Given the description of an element on the screen output the (x, y) to click on. 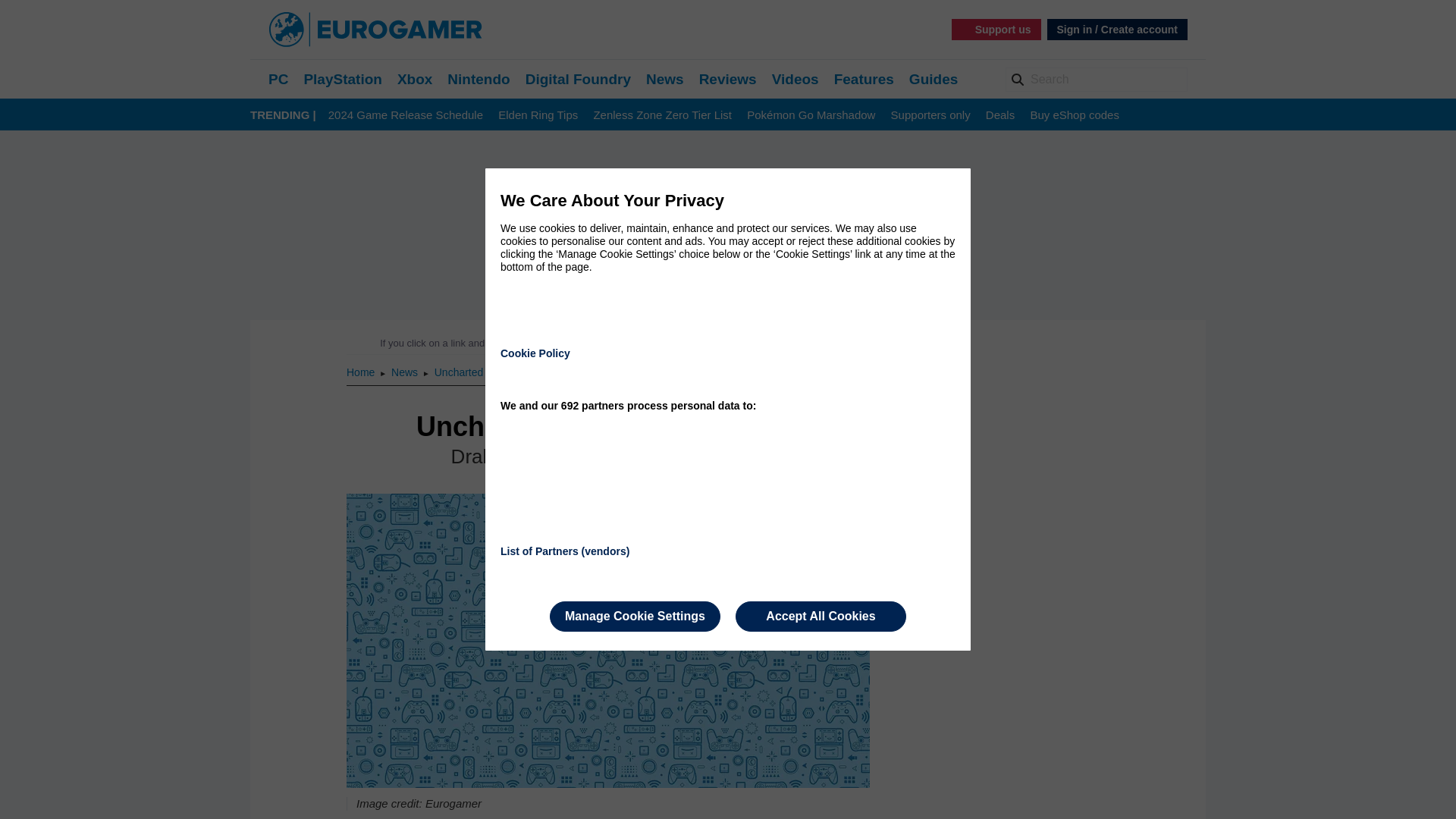
Elden Ring Tips (537, 114)
PlayStation (341, 78)
Deals (999, 114)
News (405, 372)
News (665, 78)
News (665, 78)
Guides (933, 78)
Features (863, 78)
PlayStation (341, 78)
Supporters only (931, 114)
Nintendo (477, 78)
Digital Foundry (577, 78)
Xbox (414, 78)
Supporters only (931, 114)
Guides (933, 78)
